Given the description of an element on the screen output the (x, y) to click on. 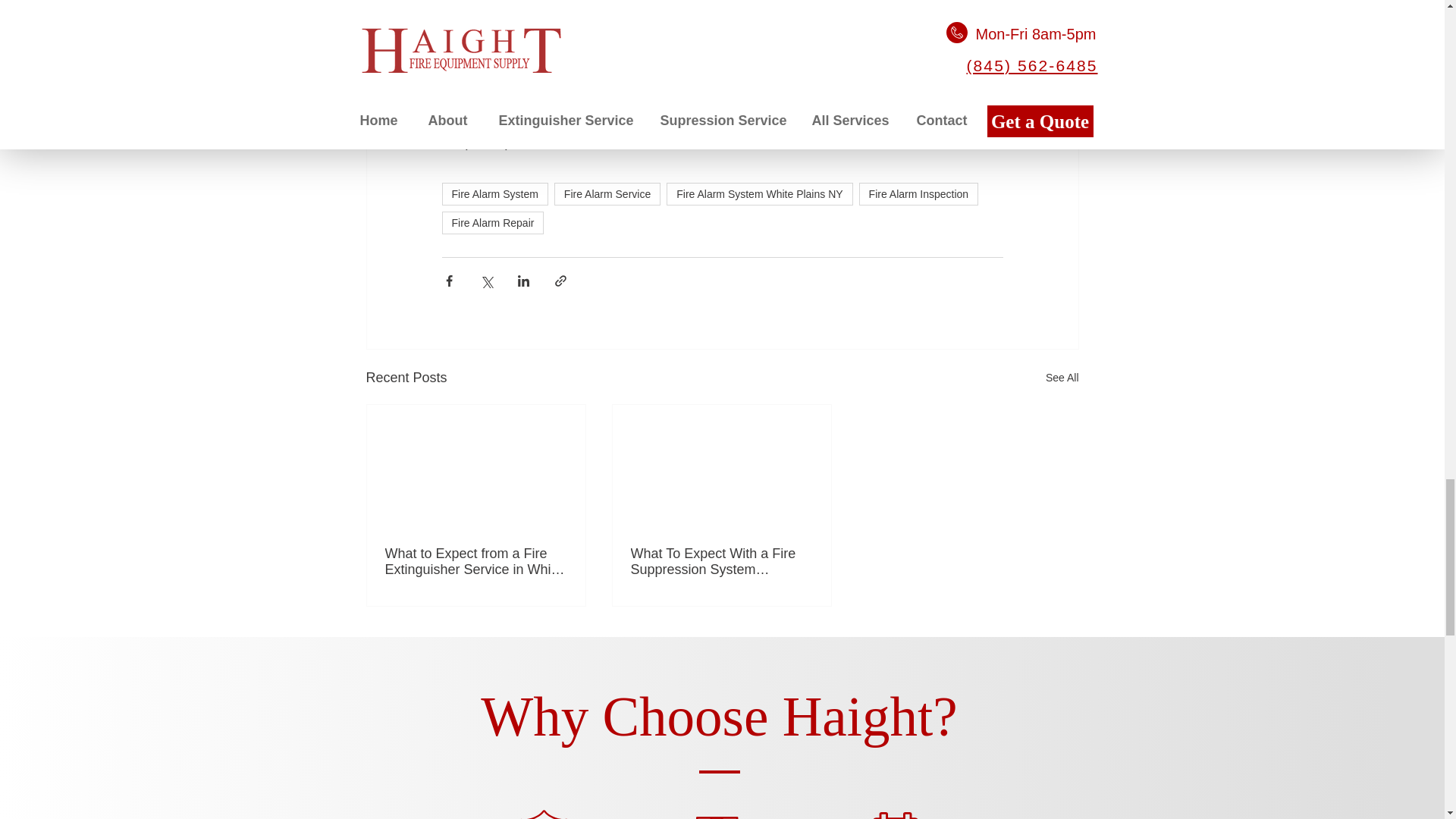
Fire Alarm Inspection (918, 193)
White Plains, NY (802, 41)
Fire Alarm Service (607, 193)
Fire Alarm Repair (492, 222)
Fire Alarm System (494, 193)
The Silver Lake Preserve (549, 3)
Fire Alarm System White Plains NY (758, 193)
